Given the description of an element on the screen output the (x, y) to click on. 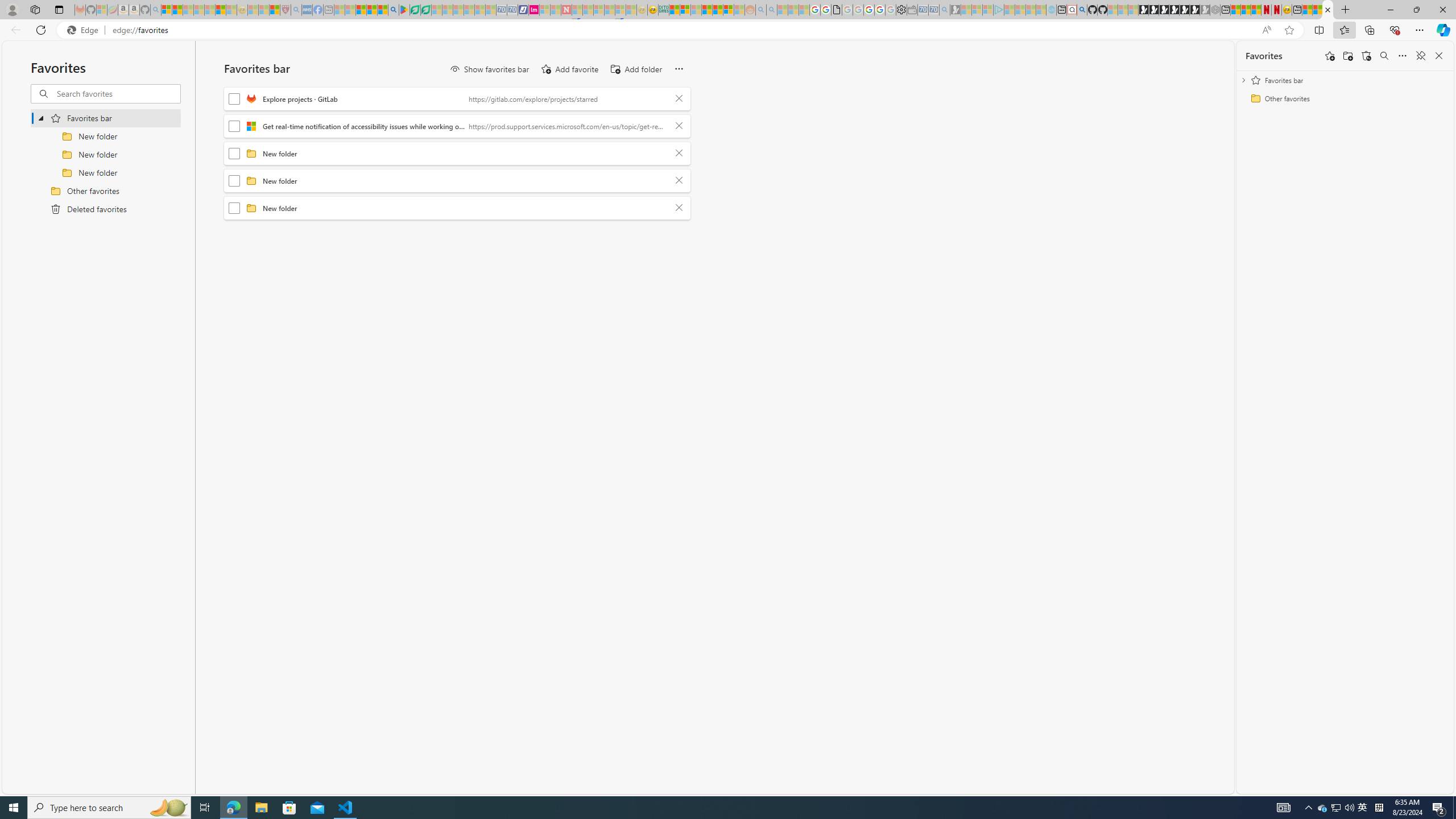
Wildlife - MSN (1307, 9)
The Weather Channel - MSN - Sleeping (187, 9)
Home | Sky Blue Bikes - Sky Blue Bikes - Sleeping (1051, 9)
google_privacy_policy_zh-CN.pdf (837, 9)
